Given the description of an element on the screen output the (x, y) to click on. 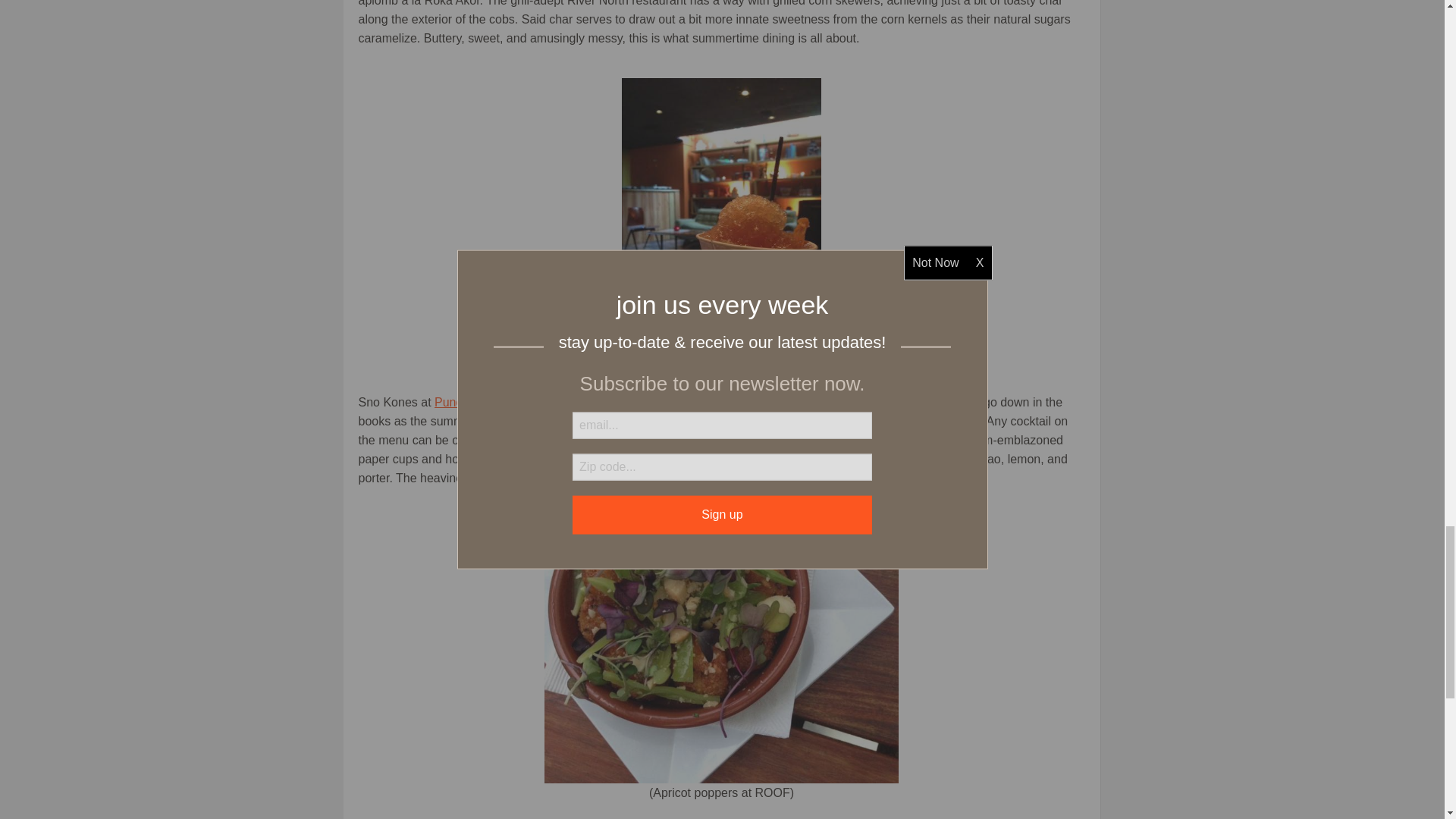
ROOF (721, 649)
Punch House (469, 401)
